Given the description of an element on the screen output the (x, y) to click on. 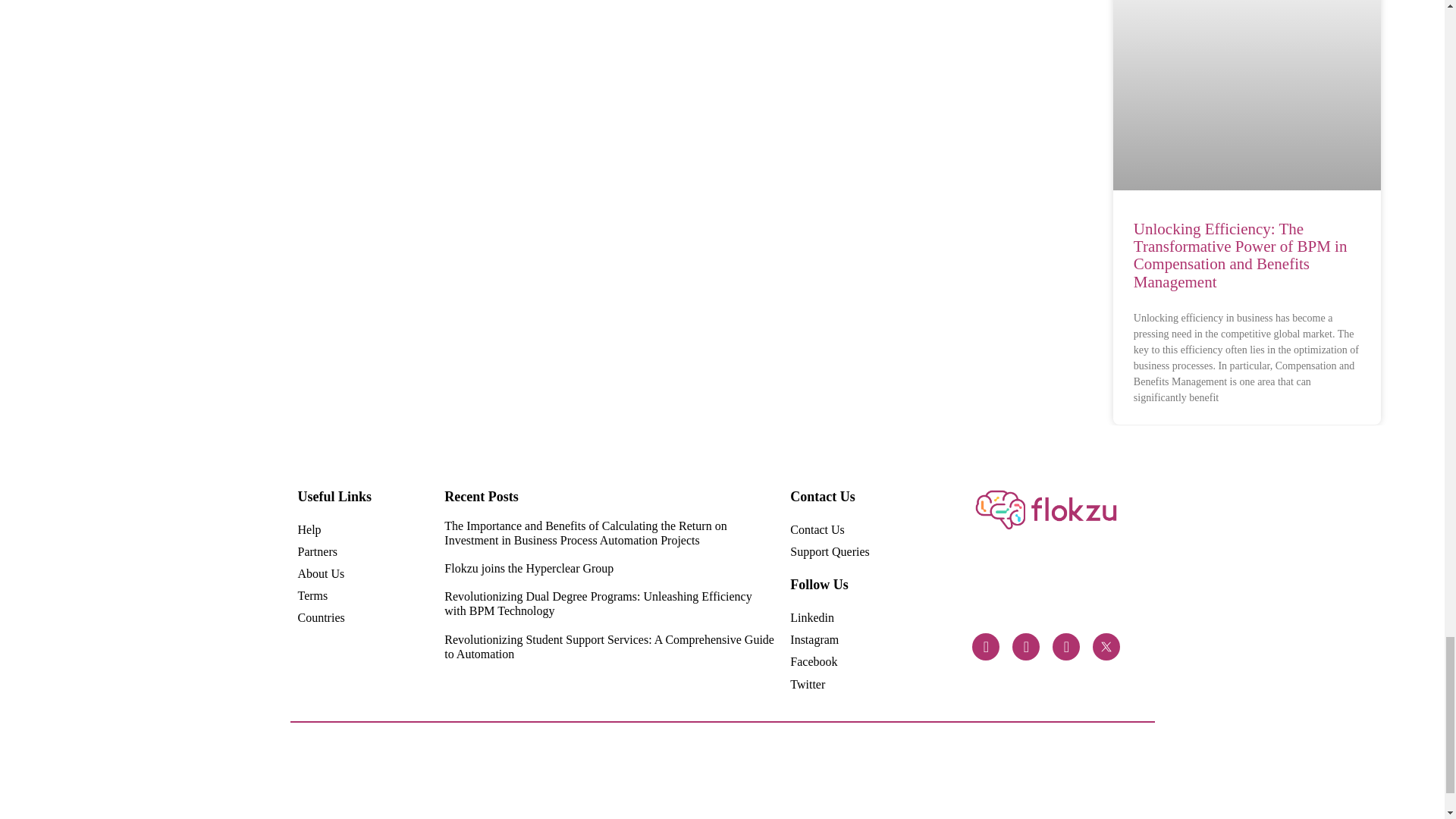
Top Performer Flokzu 2024-1 (688, 788)
category leaders 2024 (430, 788)
frontrunner 2024 (494, 787)
good firms top bpm-footer (945, 788)
getapp best functionality and features-footer (1010, 787)
Top Performer Flokzu 2024-2 (559, 788)
